Given the description of an element on the screen output the (x, y) to click on. 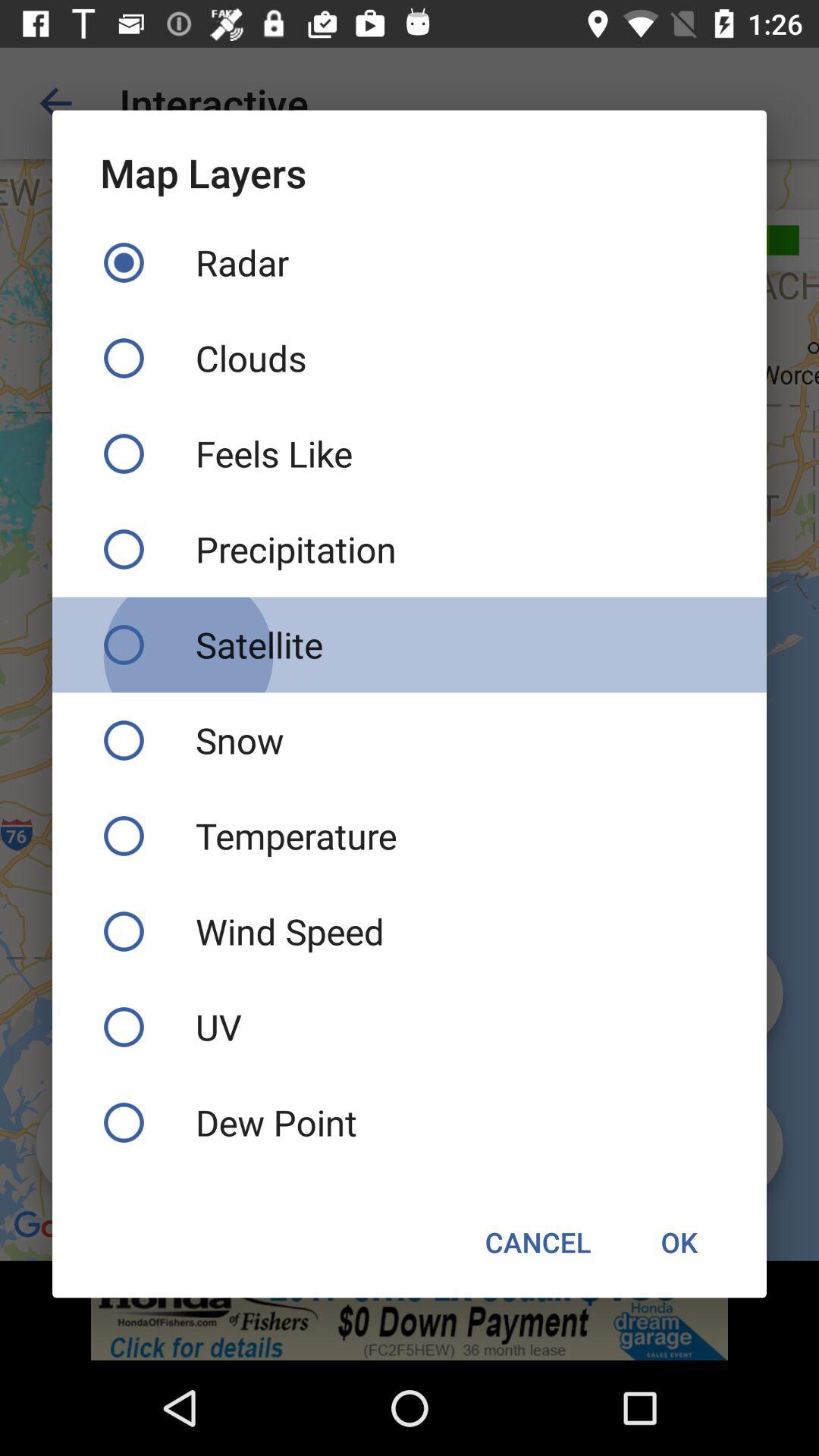
choose ok (678, 1241)
